Given the description of an element on the screen output the (x, y) to click on. 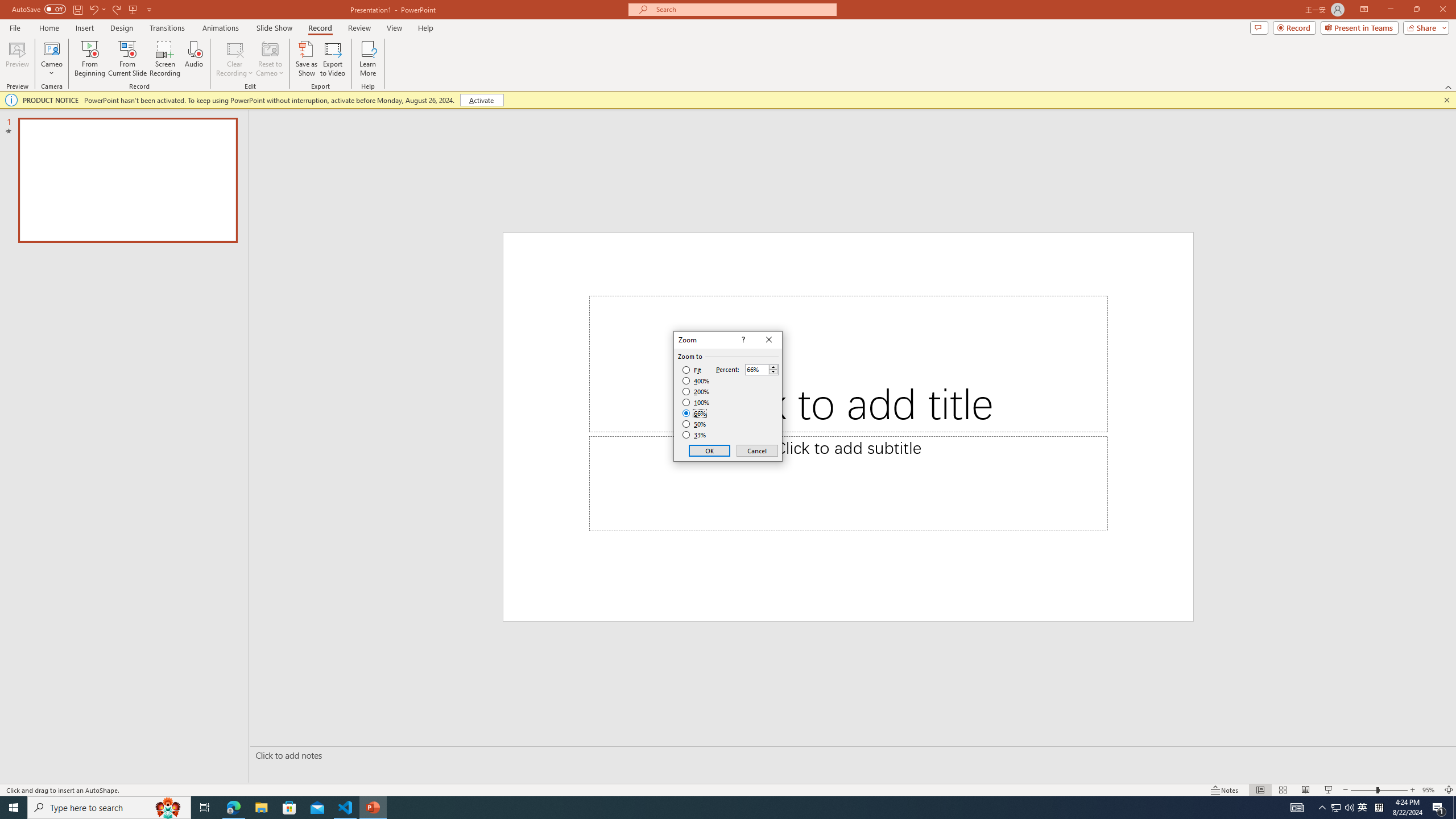
From Current Slide... (127, 58)
From Beginning... (89, 58)
